Given the description of an element on the screen output the (x, y) to click on. 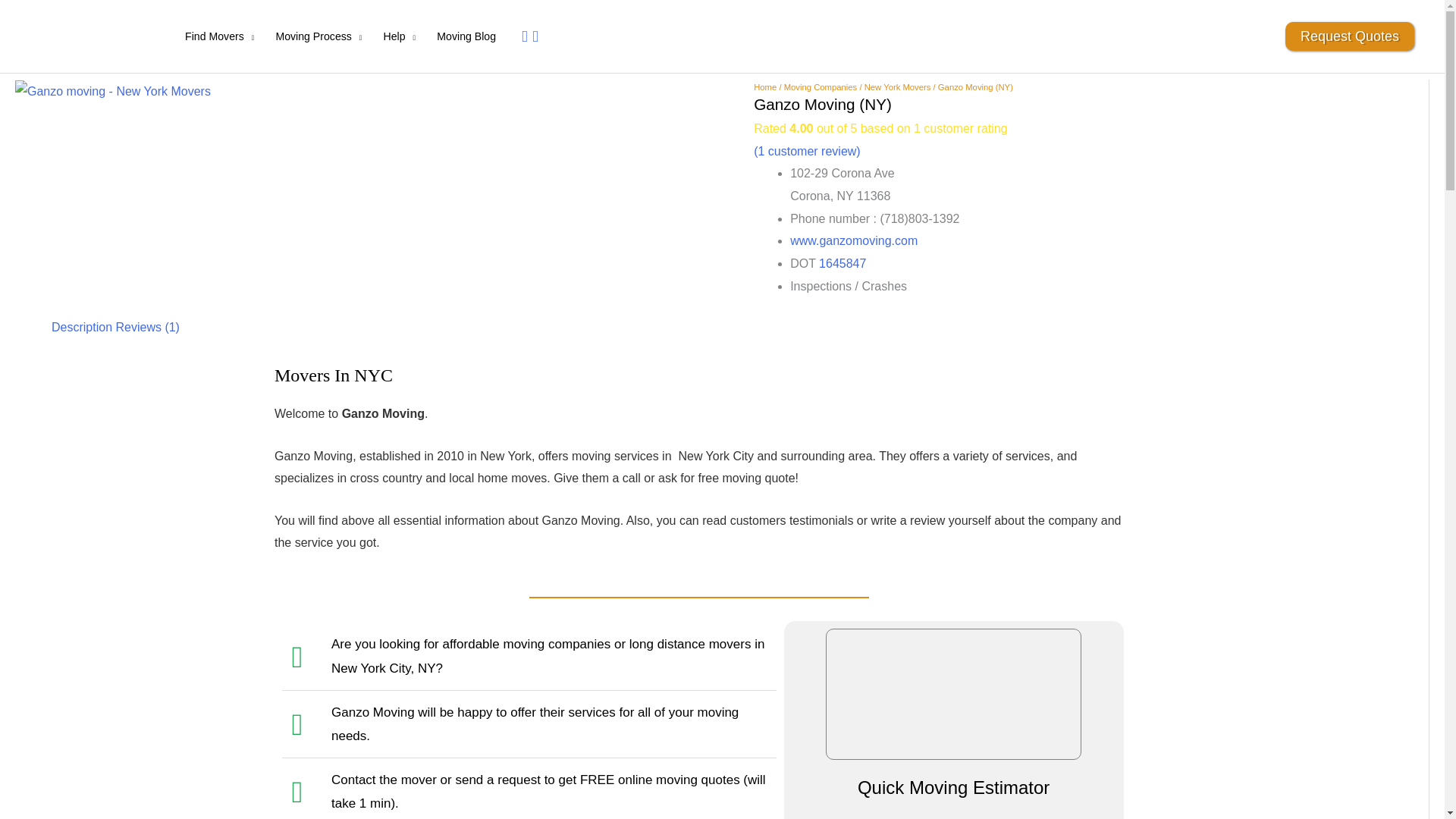
Request Quotes (1349, 36)
Search (532, 36)
Moving Blog (466, 36)
Help (399, 36)
Moving Process (318, 36)
Ganzo moving NY movingb.com (112, 90)
Find Movers (219, 36)
